Given the description of an element on the screen output the (x, y) to click on. 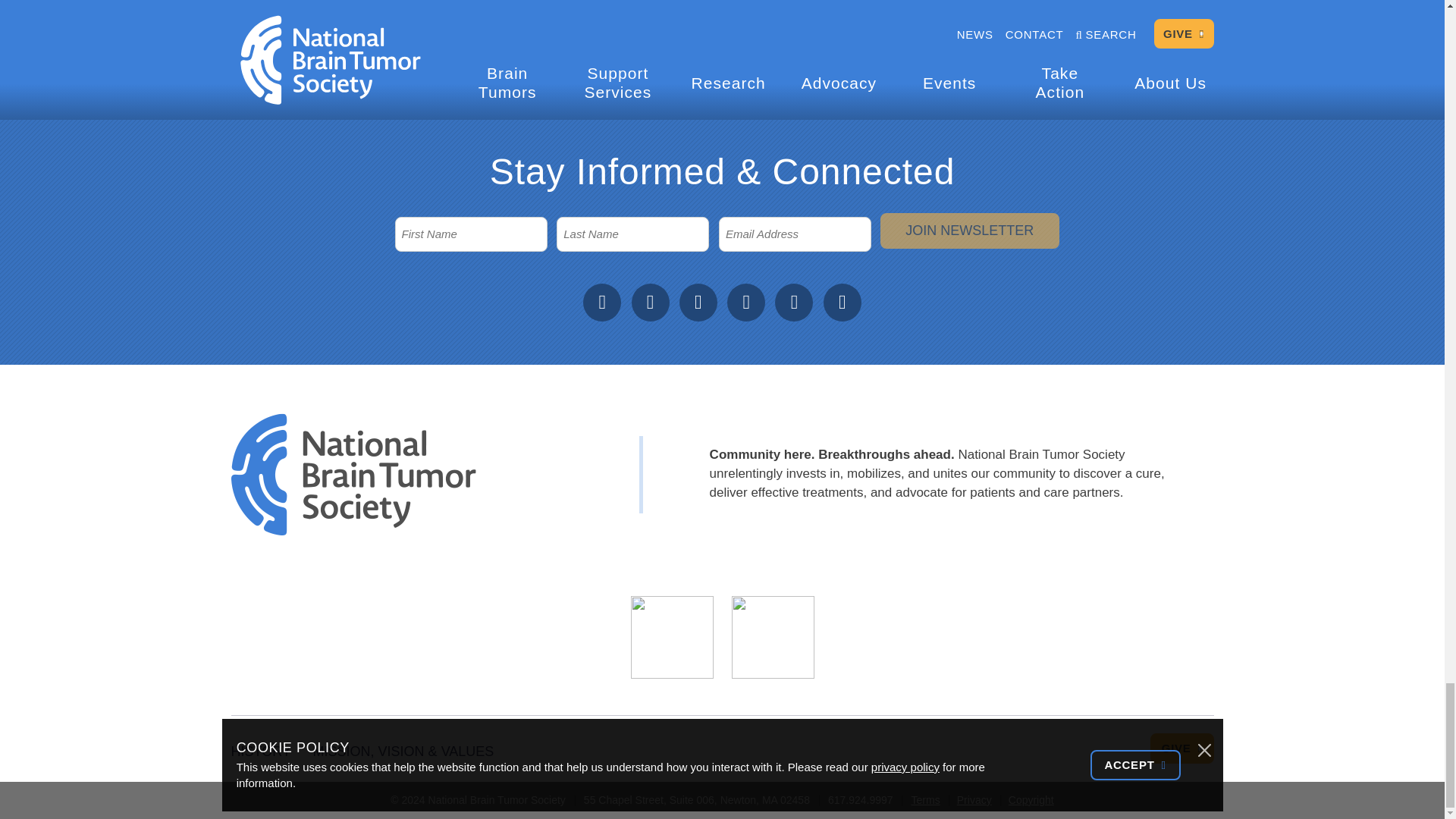
JOIN NEWSLETTER (969, 230)
